Given the description of an element on the screen output the (x, y) to click on. 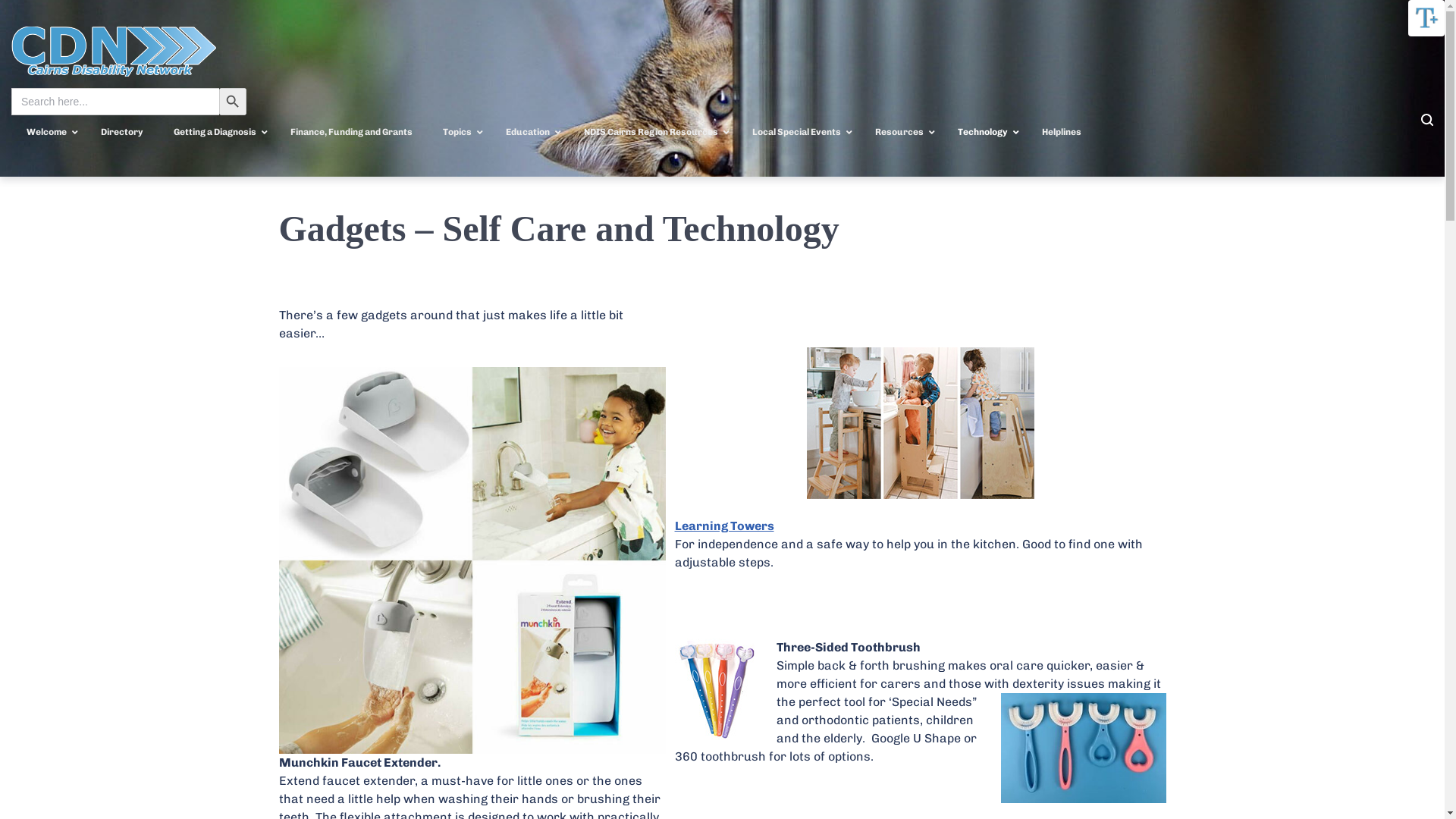
Learning Towers Element type: text (724, 525)
Technology Element type: text (984, 132)
Local Special Events Element type: text (798, 132)
Welcome Element type: text (48, 132)
Resources Element type: text (900, 132)
Search Button Element type: text (232, 101)
Finance, Funding and Grants Element type: text (351, 132)
Topics Element type: text (458, 132)
Education Element type: text (529, 132)
Services & Support Directory Element type: text (1354, 51)
Directory Element type: text (121, 132)
Helplines Element type: text (1061, 132)
NDIS Cairns Region Resources Element type: text (652, 132)
Getting a Diagnosis Element type: text (216, 132)
Accessibility Helper sidebar Element type: hover (1426, 18)
